Given the description of an element on the screen output the (x, y) to click on. 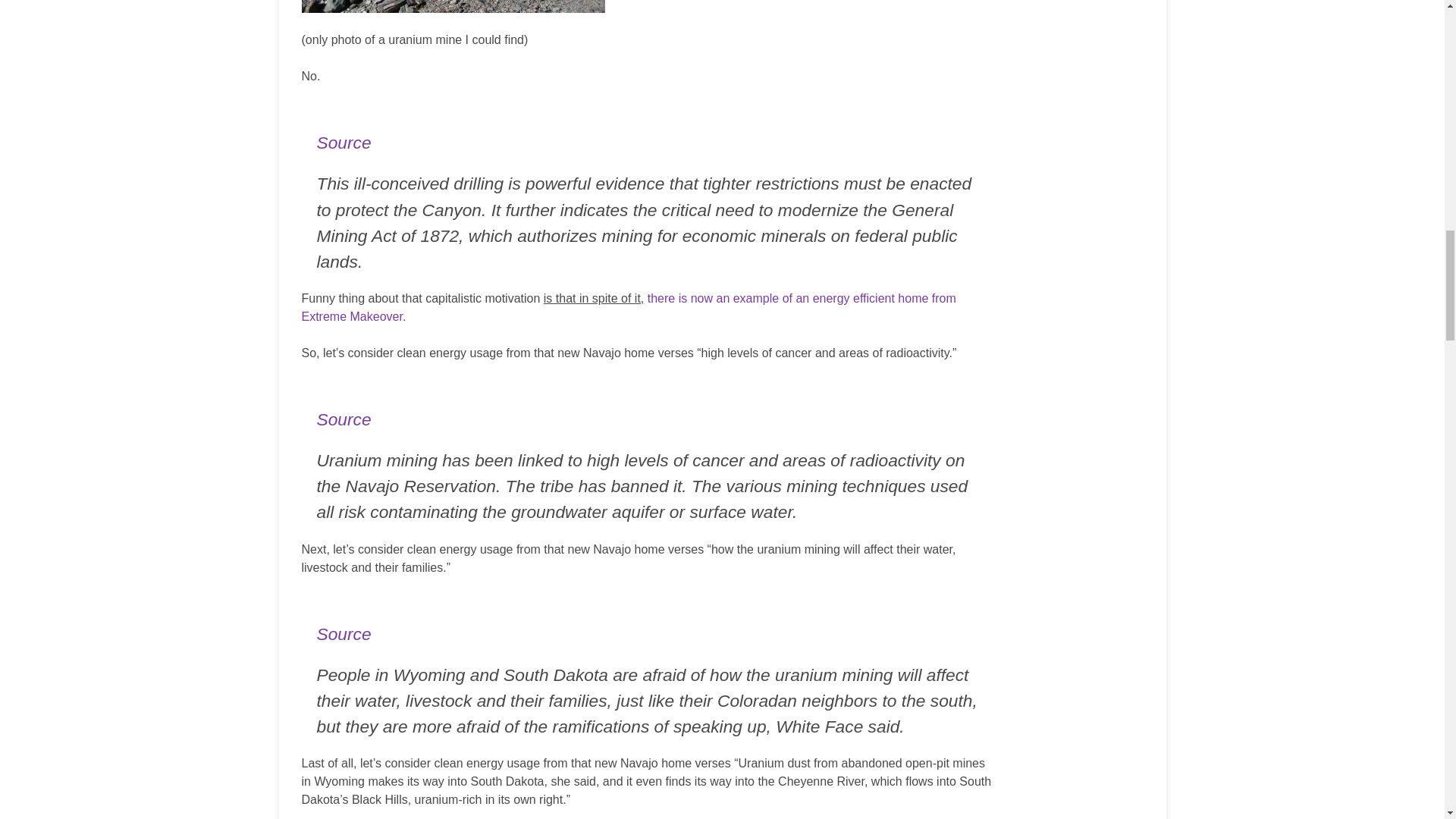
Source (344, 633)
Source (344, 419)
Source (344, 142)
